Given the description of an element on the screen output the (x, y) to click on. 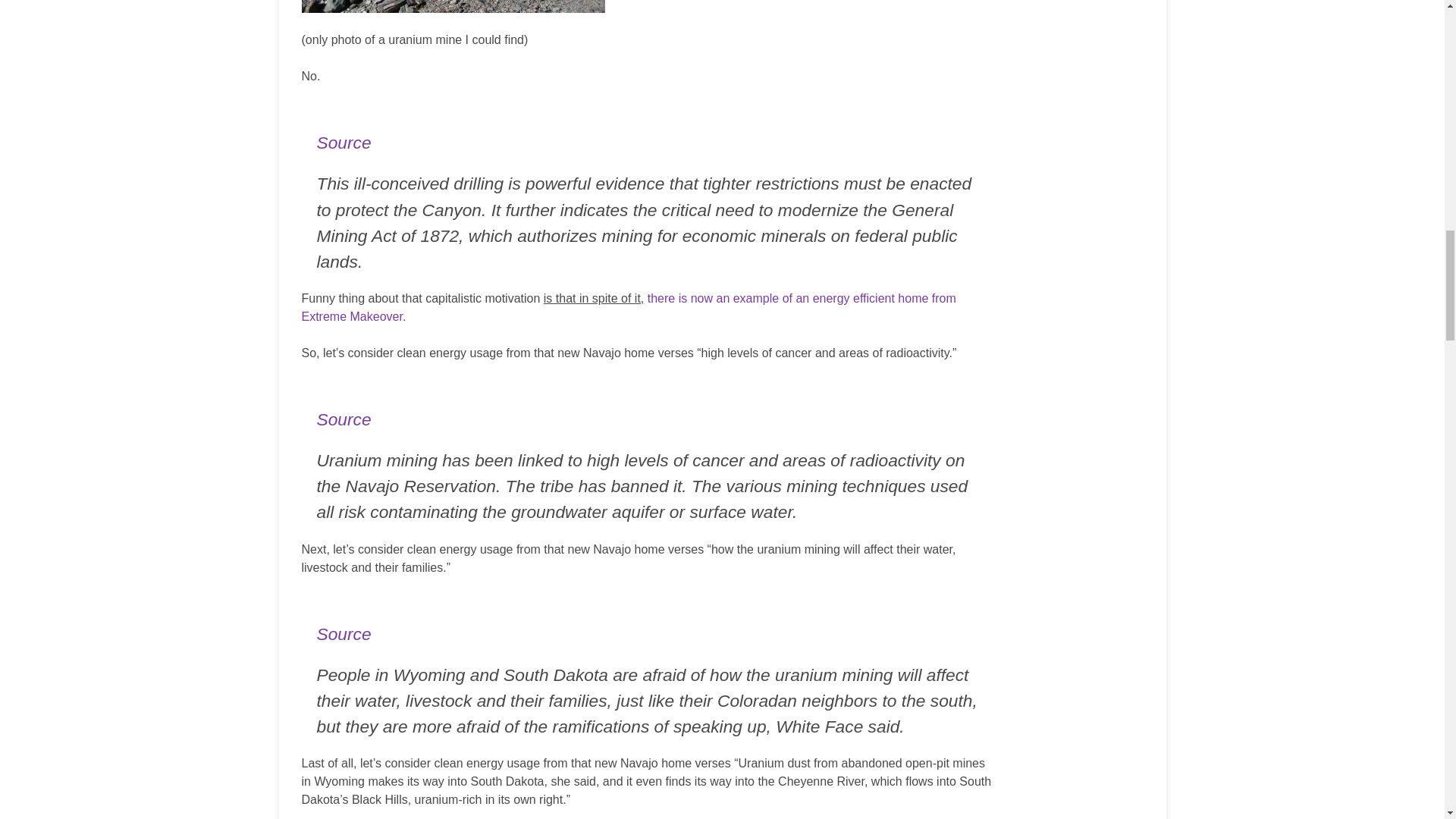
Source (344, 633)
Source (344, 419)
Source (344, 142)
